Given the description of an element on the screen output the (x, y) to click on. 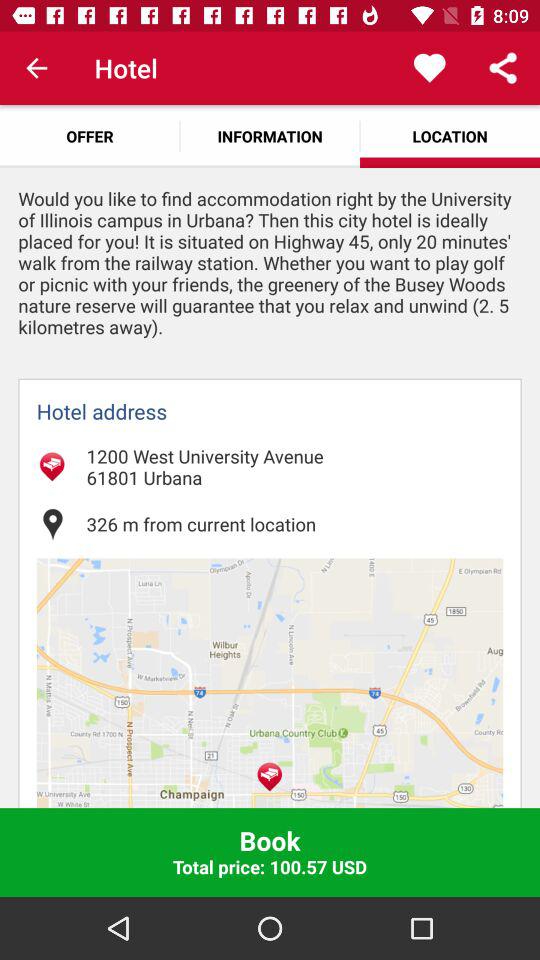
launch the app next to location item (270, 136)
